Given the description of an element on the screen output the (x, y) to click on. 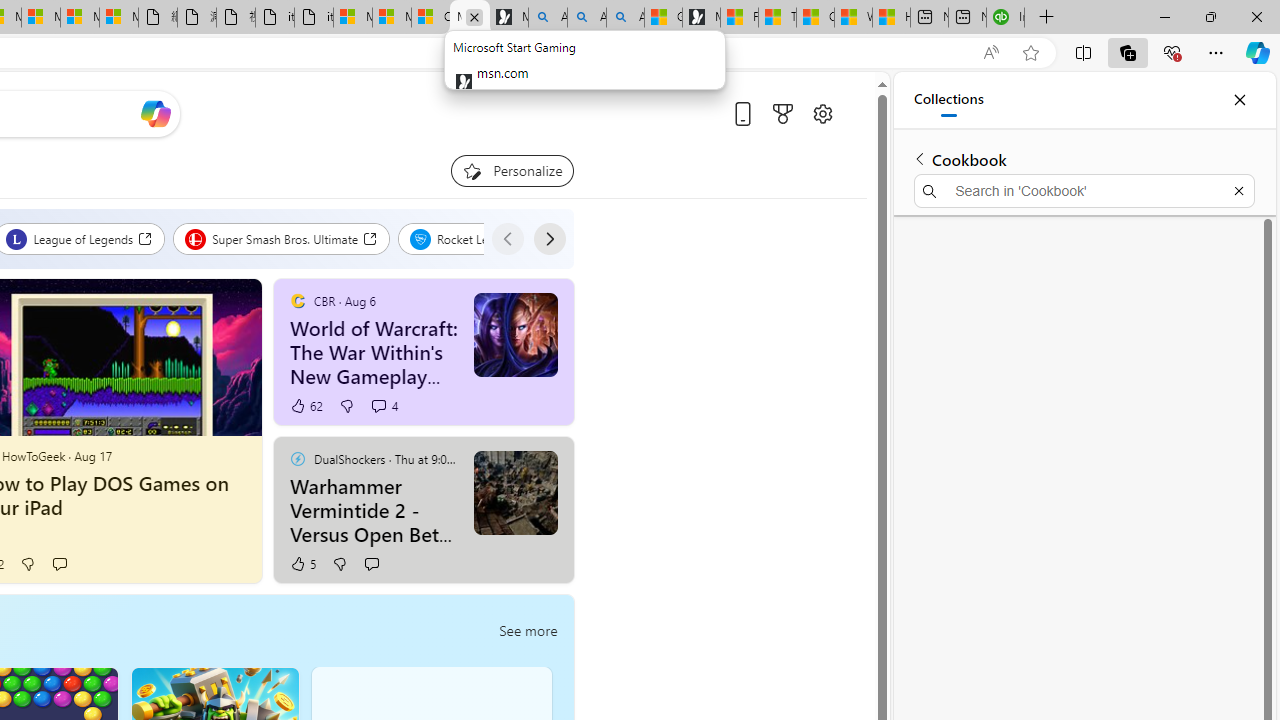
View comments 4 Comment (383, 405)
Search in 'Cookbook' (1084, 190)
Rocket League (472, 238)
62 Like (306, 405)
CNN - MSN (815, 17)
Food and Drink - MSN (738, 17)
Alabama high school quarterback dies - Search Videos (624, 17)
DualShockers (297, 458)
